Given the description of an element on the screen output the (x, y) to click on. 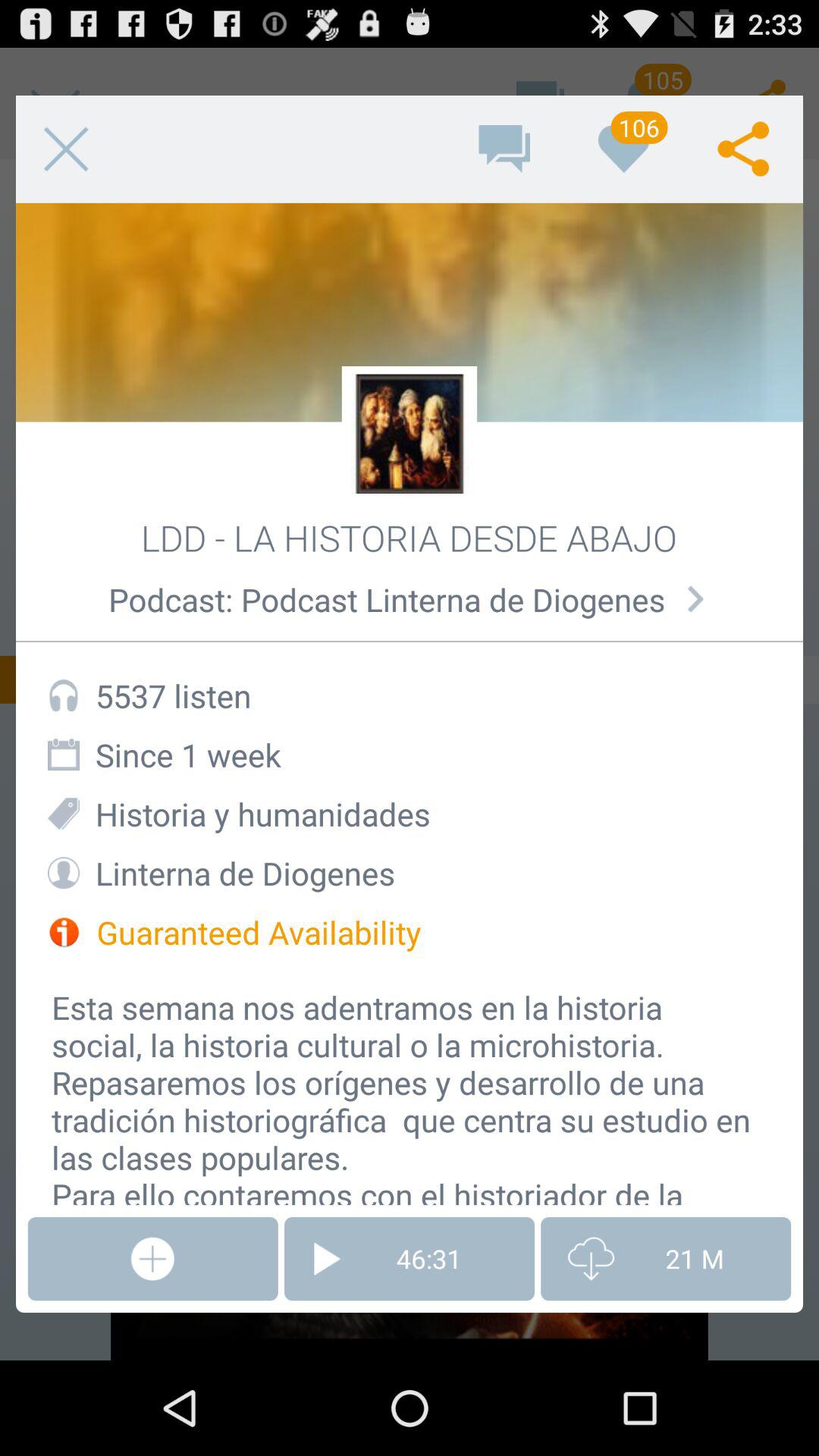
scroll to the 46:31 (409, 1258)
